Given the description of an element on the screen output the (x, y) to click on. 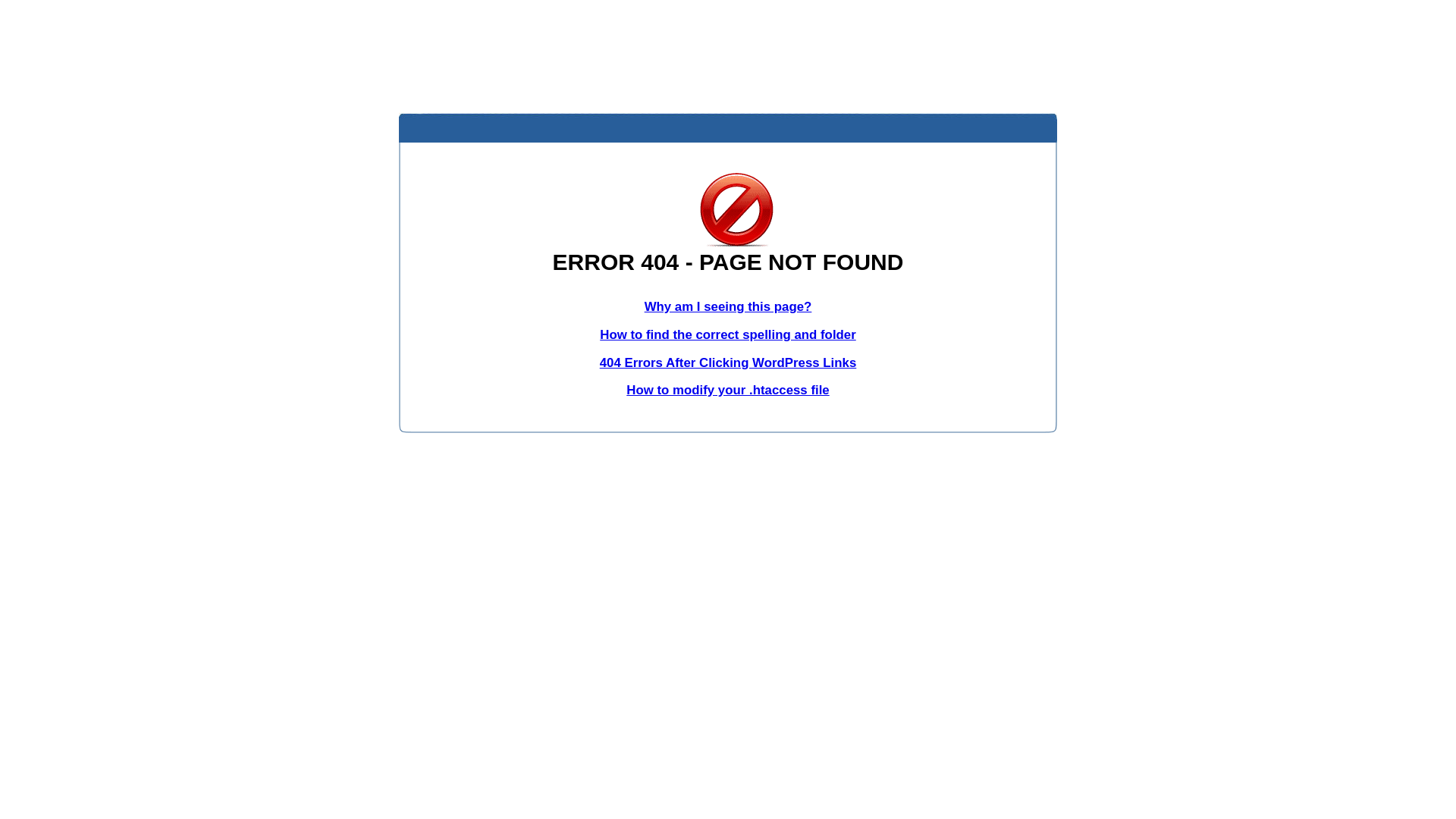
Why am I seeing this page? Element type: text (728, 306)
404 Errors After Clicking WordPress Links Element type: text (727, 362)
How to find the correct spelling and folder Element type: text (727, 334)
How to modify your .htaccess file Element type: text (727, 389)
